Given the description of an element on the screen output the (x, y) to click on. 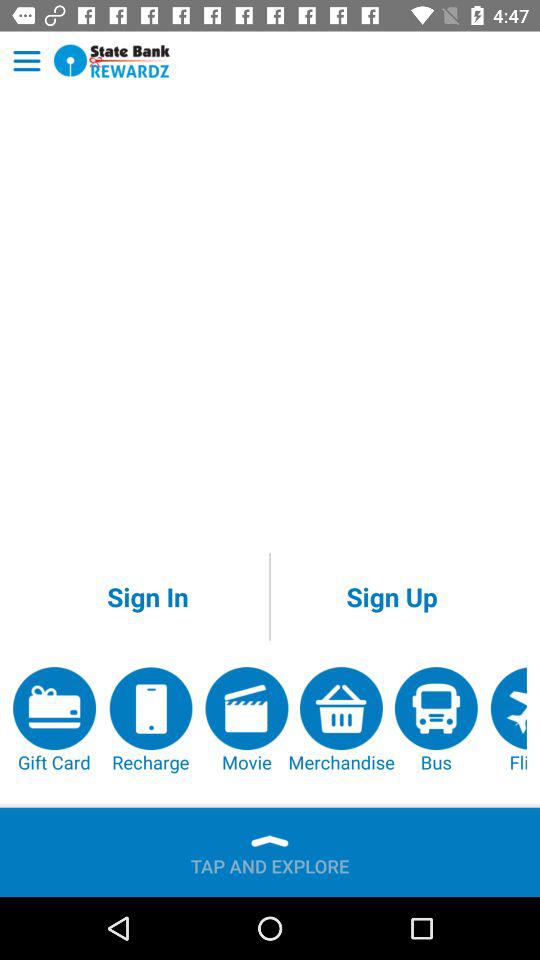
swipe until the sign in app (147, 596)
